Given the description of an element on the screen output the (x, y) to click on. 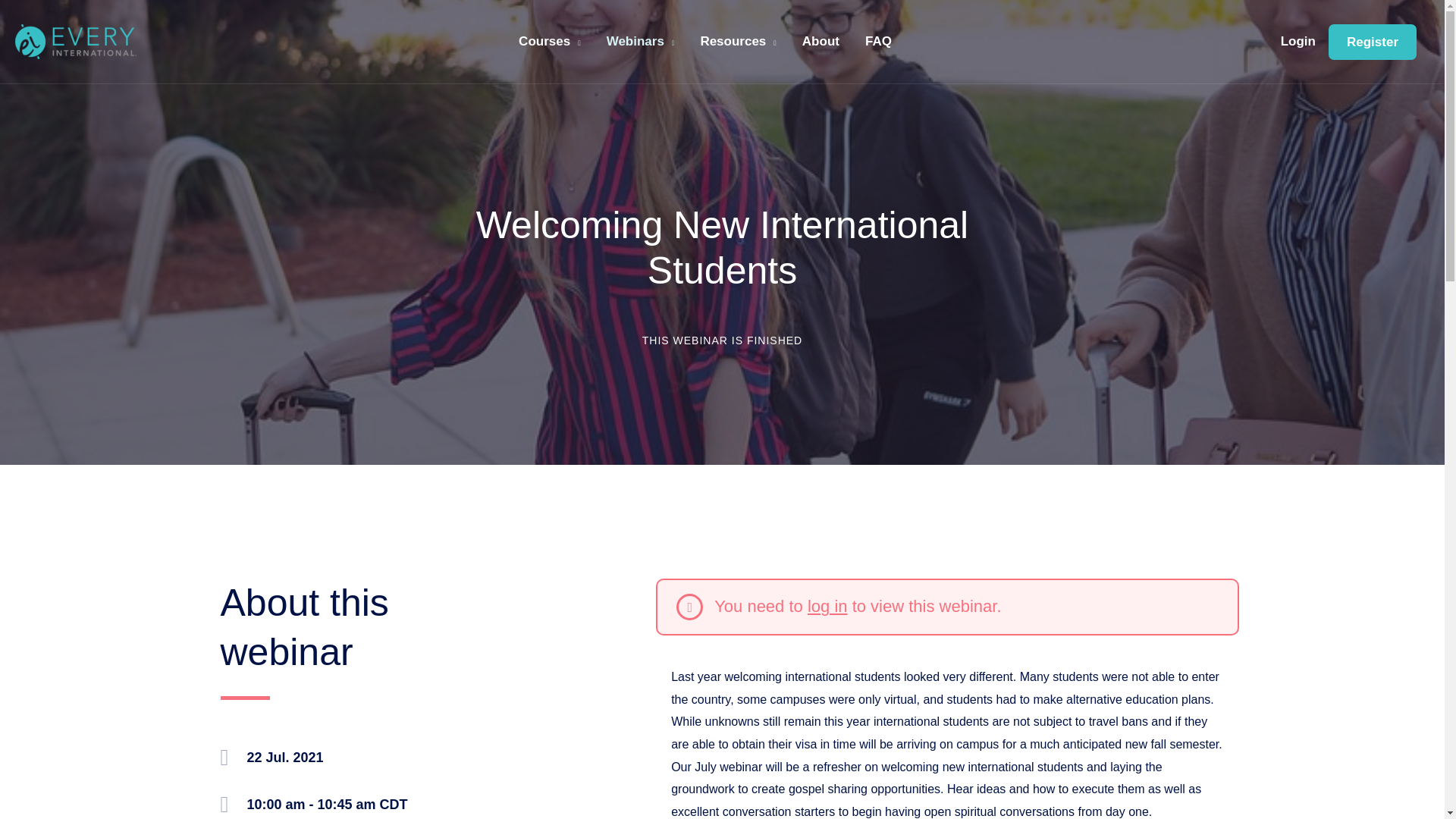
Courses (549, 41)
Resources (738, 41)
Webinars (640, 41)
